Given the description of an element on the screen output the (x, y) to click on. 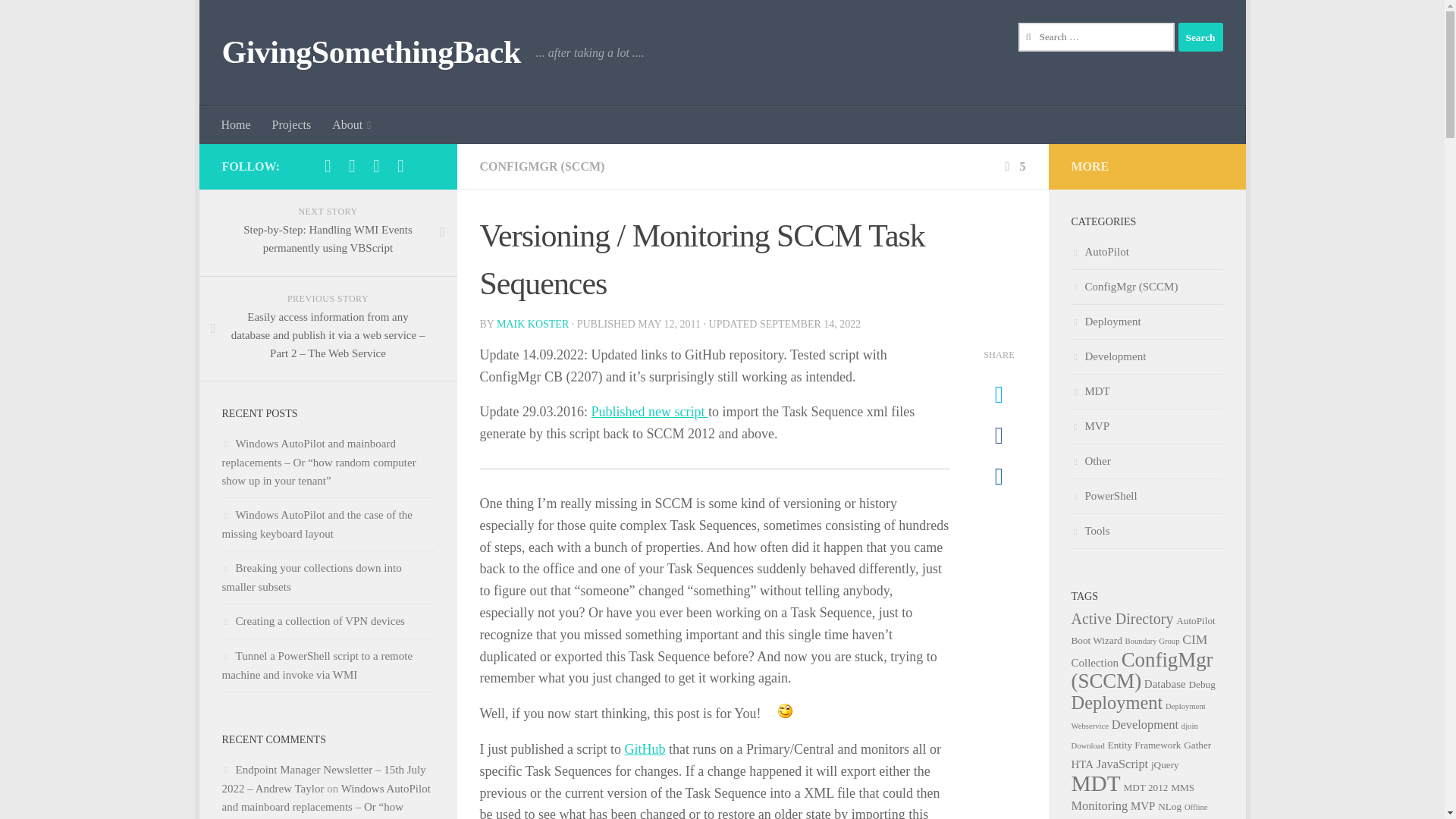
Projects (291, 125)
5 (1013, 165)
Skip to content (258, 20)
GivingSomethingBack (370, 53)
Posts by Maik Koster (532, 324)
Twitter (327, 166)
Search (1200, 36)
GitHub (644, 749)
About (351, 125)
LinkedIn (351, 166)
XING (375, 166)
Search (1200, 36)
Published new script (649, 411)
MAIK KOSTER (532, 324)
Search (1200, 36)
